Given the description of an element on the screen output the (x, y) to click on. 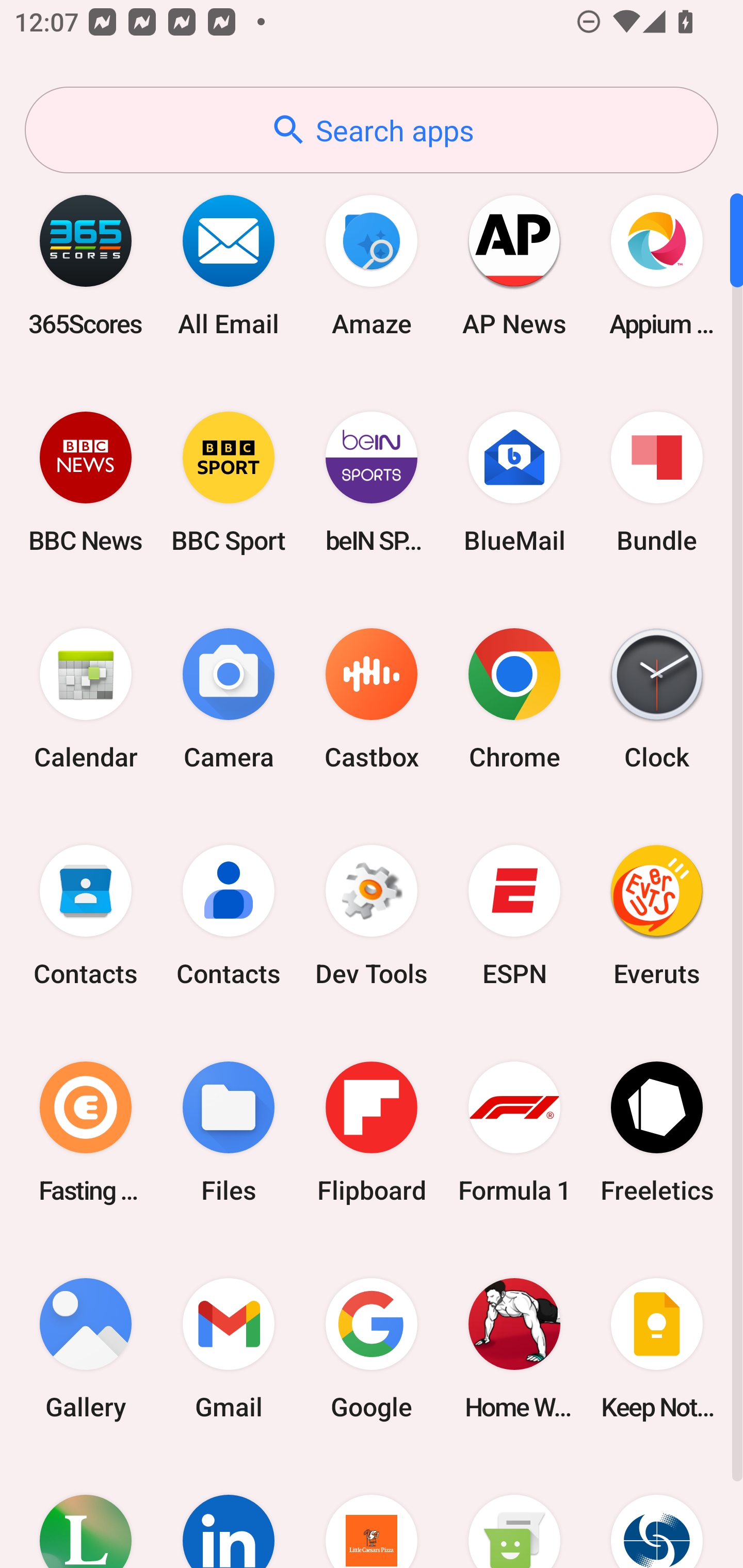
  Search apps (371, 130)
365Scores (85, 264)
All Email (228, 264)
Amaze (371, 264)
AP News (514, 264)
Appium Settings (656, 264)
BBC News (85, 482)
BBC Sport (228, 482)
beIN SPORTS (371, 482)
BlueMail (514, 482)
Bundle (656, 482)
Calendar (85, 699)
Camera (228, 699)
Castbox (371, 699)
Chrome (514, 699)
Clock (656, 699)
Contacts (85, 915)
Contacts (228, 915)
Dev Tools (371, 915)
ESPN (514, 915)
Everuts (656, 915)
Fasting Coach (85, 1131)
Files (228, 1131)
Flipboard (371, 1131)
Formula 1 (514, 1131)
Freeletics (656, 1131)
Gallery (85, 1348)
Gmail (228, 1348)
Google (371, 1348)
Home Workout (514, 1348)
Keep Notes (656, 1348)
